Given the description of an element on the screen output the (x, y) to click on. 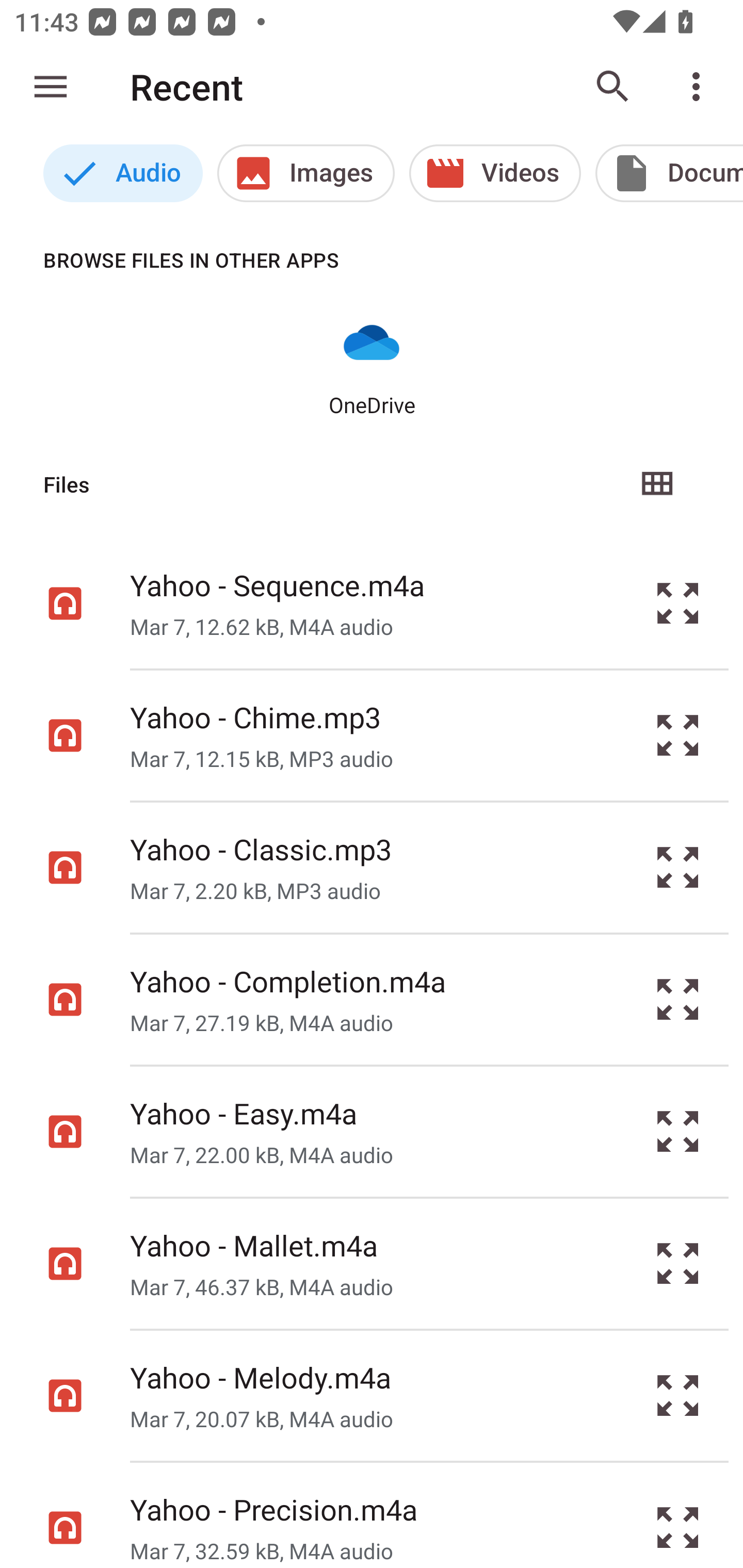
Show roots (50, 86)
Search (612, 86)
More options (699, 86)
Audio (122, 173)
Images (305, 173)
Videos (495, 173)
Documents (669, 173)
OneDrive (371, 365)
Grid view (655, 484)
Preview the file Yahoo - Sequence.m4a (677, 602)
Preview the file Yahoo - Chime.mp3 (677, 736)
Preview the file Yahoo - Classic.mp3 (677, 867)
Preview the file Yahoo - Completion.m4a (677, 999)
Preview the file Yahoo - Easy.m4a (677, 1131)
Preview the file Yahoo - Mallet.m4a (677, 1262)
Preview the file Yahoo - Melody.m4a (677, 1396)
Preview the file Yahoo - Precision.m4a (677, 1515)
